Given the description of an element on the screen output the (x, y) to click on. 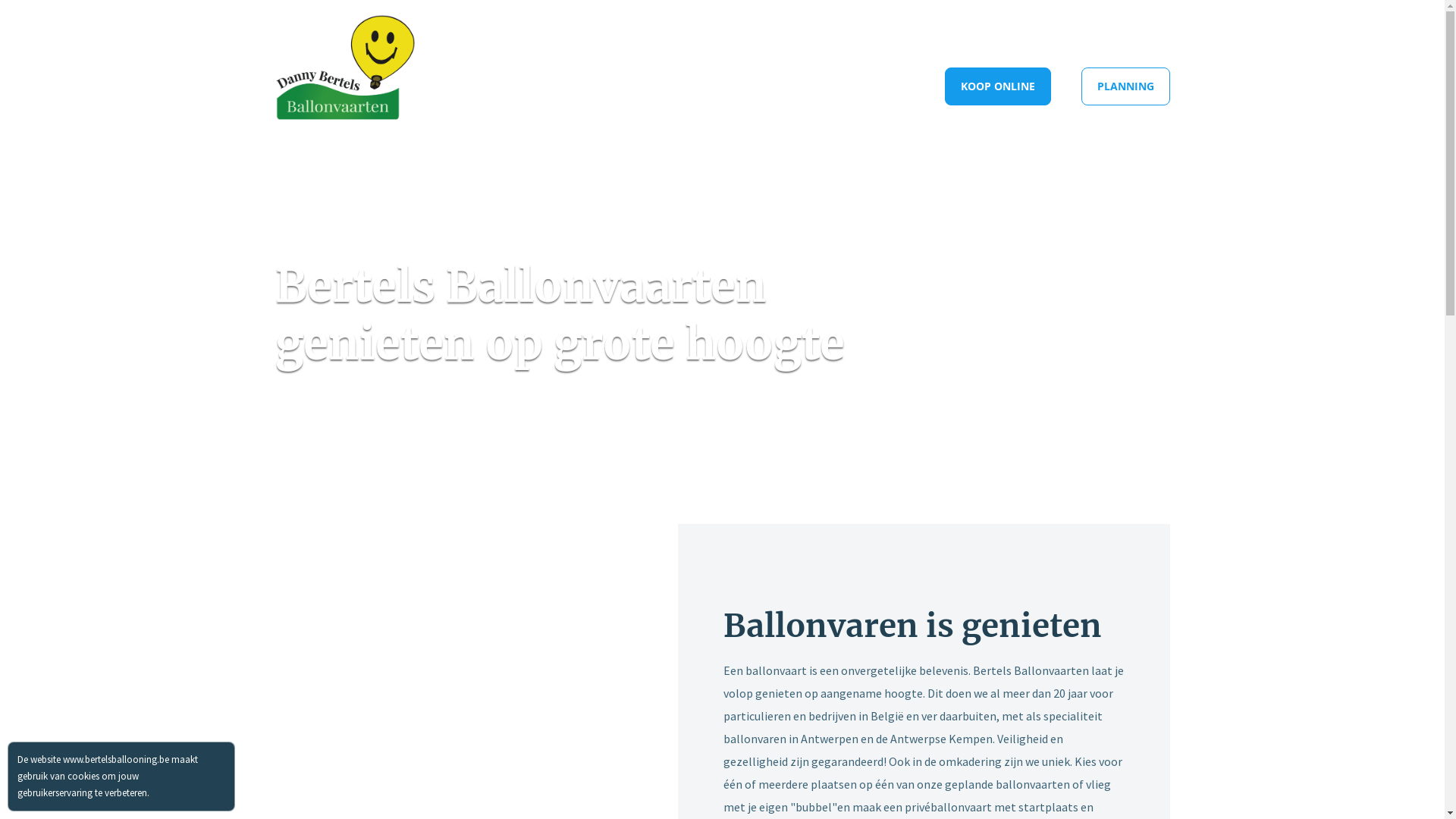
KOOP ONLINE Element type: text (997, 86)
BALLONVAARTEN Element type: text (652, 86)
PLANNING Element type: text (1125, 86)
VEILIG BALLONVAREN Element type: text (842, 30)
CONTACT Element type: text (980, 30)
CADEAUBON Element type: text (881, 86)
+32 (0)3 353 85 35 Element type: text (1101, 29)
FAQ Element type: text (924, 30)
HOME Element type: text (561, 86)
VOOR BEDRIJVEN Element type: text (772, 86)
OVER ONS Element type: text (745, 30)
